Given the description of an element on the screen output the (x, y) to click on. 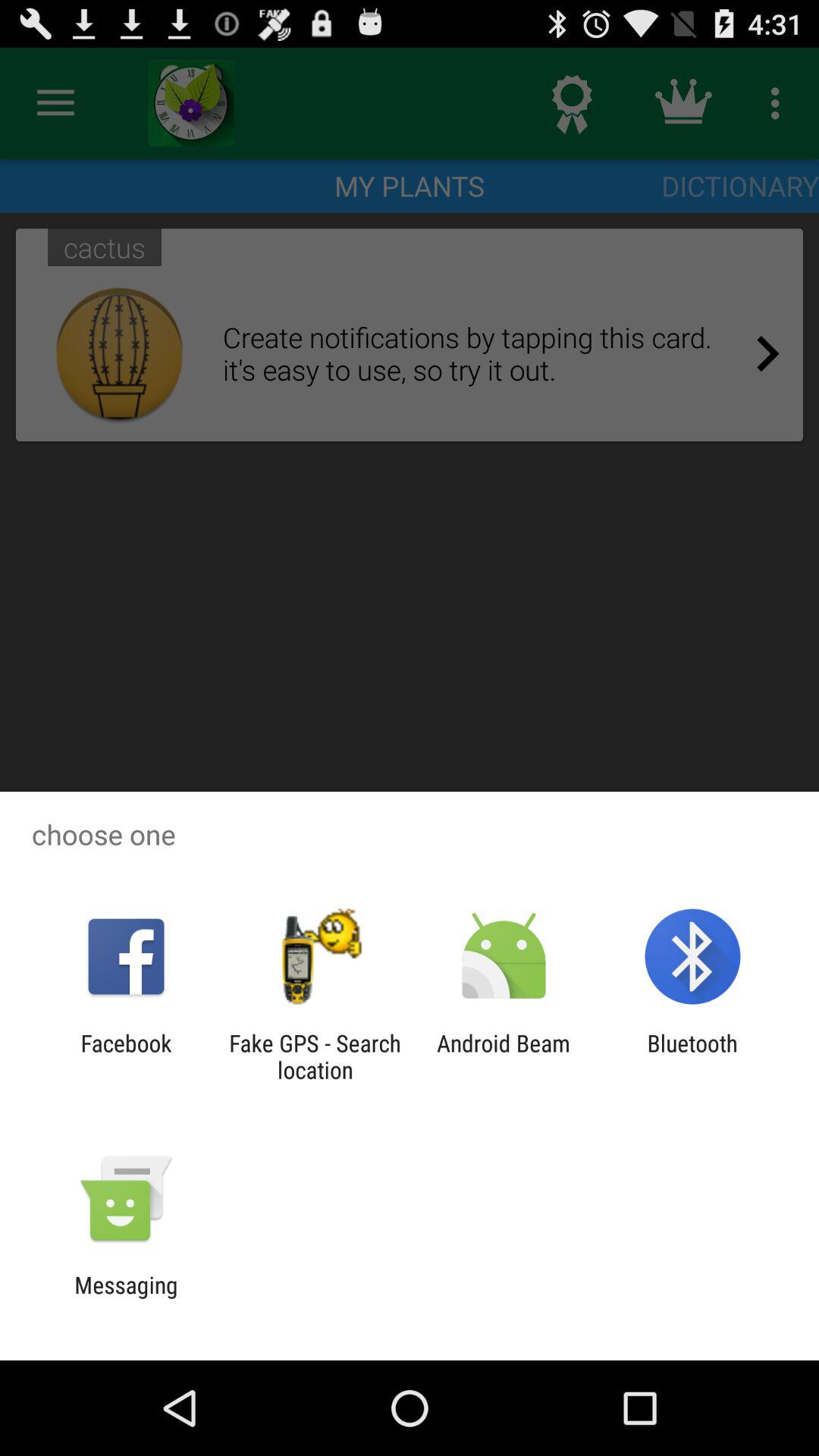
scroll to facebook item (125, 1056)
